Given the description of an element on the screen output the (x, y) to click on. 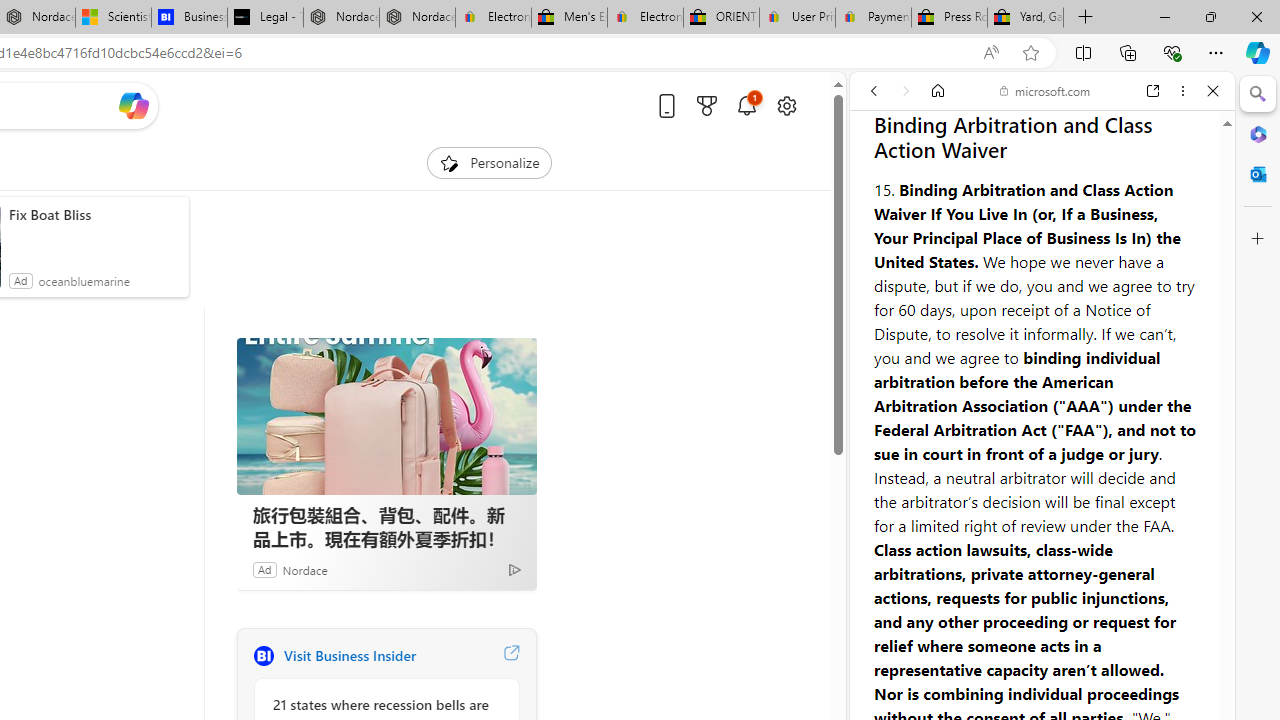
microsoft.com (1045, 90)
Business Insider (263, 655)
